Given the description of an element on the screen output the (x, y) to click on. 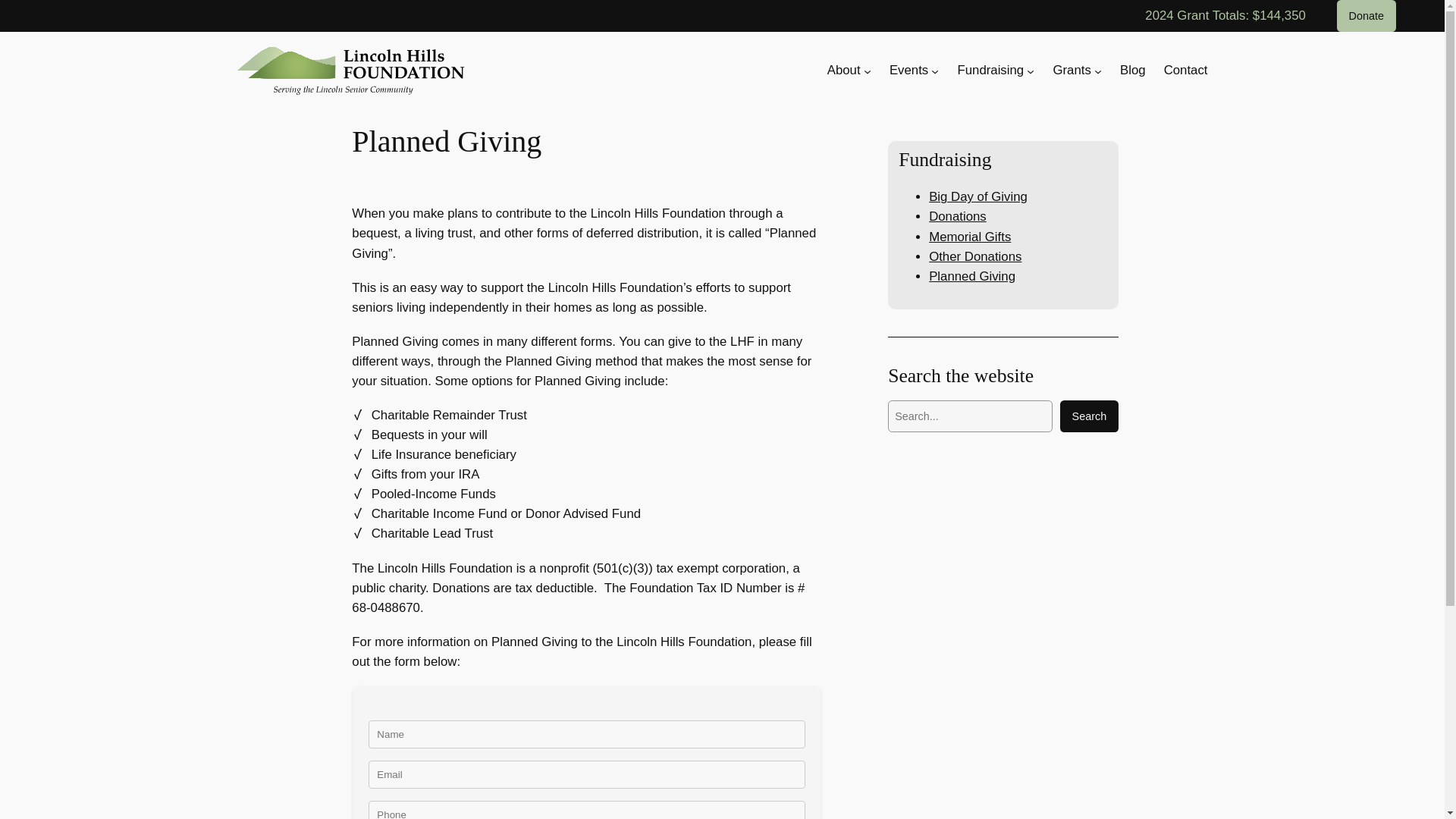
Fundraising (989, 70)
Contact (1185, 70)
Donate (1366, 15)
Grants (1071, 70)
Blog (1132, 70)
About (843, 70)
Events (908, 70)
